Given the description of an element on the screen output the (x, y) to click on. 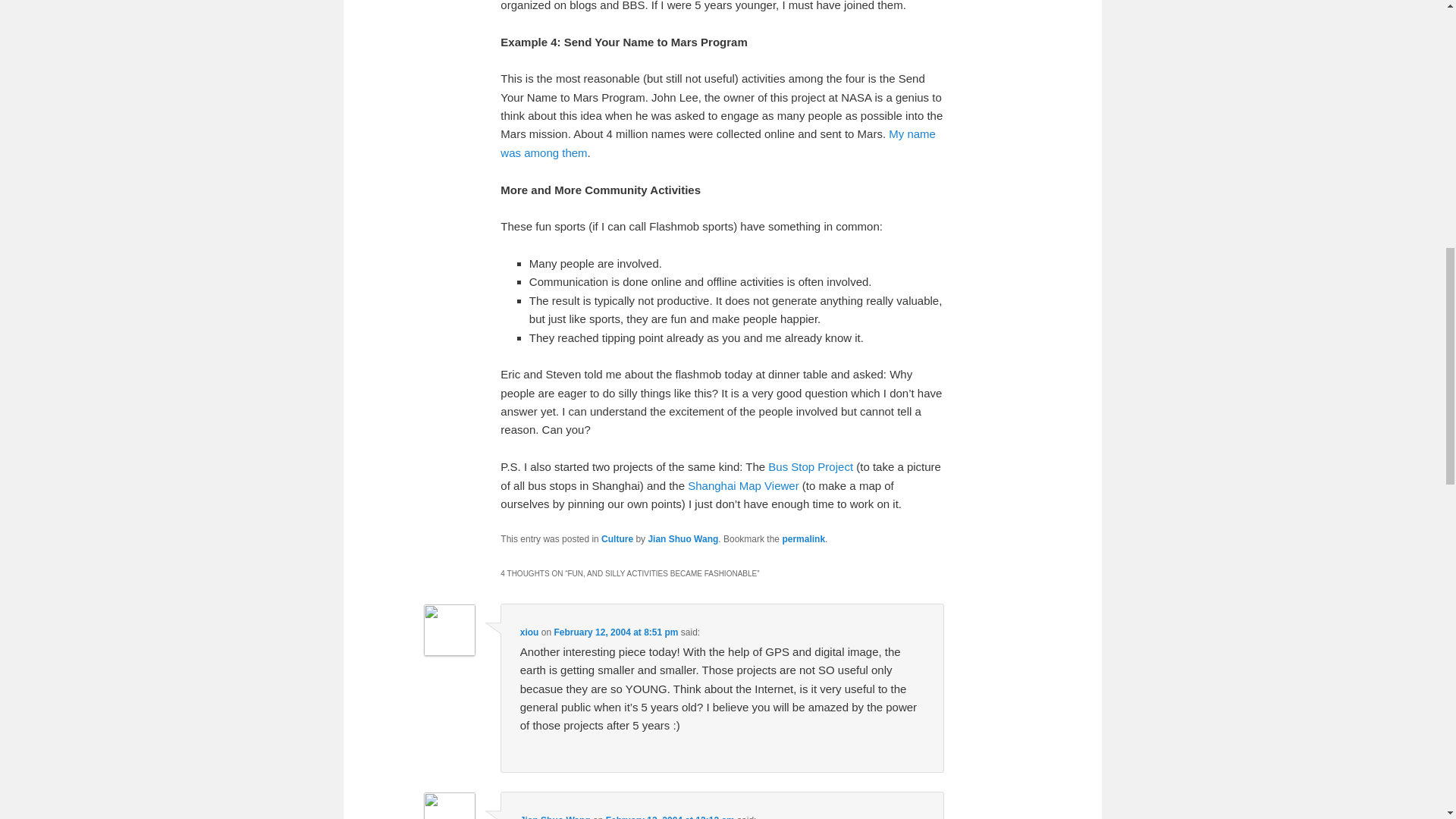
Permalink to Fun, and Silly Activities Became Fashionable (803, 538)
